Given the description of an element on the screen output the (x, y) to click on. 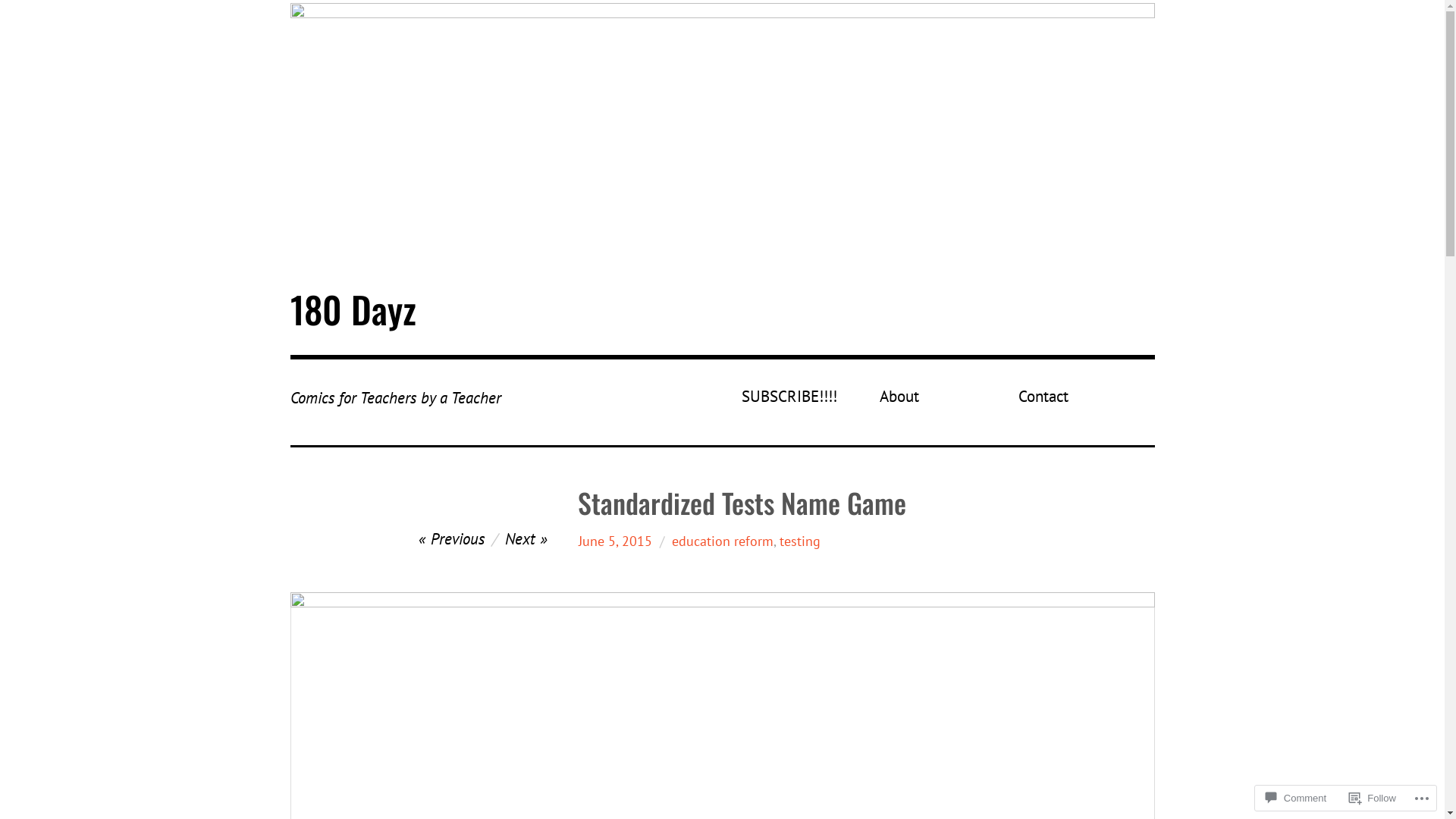
Previous Element type: text (451, 538)
education reform Element type: text (722, 540)
June 5, 2015 Element type: text (615, 540)
180 Dayz Element type: text (352, 308)
SUBSCRIBE!!!! Element type: text (804, 396)
Comment Element type: text (1295, 797)
Follow Element type: text (1372, 797)
testing Element type: text (799, 540)
Next Element type: text (526, 538)
About Element type: text (942, 396)
180 Dayz Element type: hover (721, 134)
Contact Element type: text (1081, 396)
Scott Element type: text (593, 540)
